Given the description of an element on the screen output the (x, y) to click on. 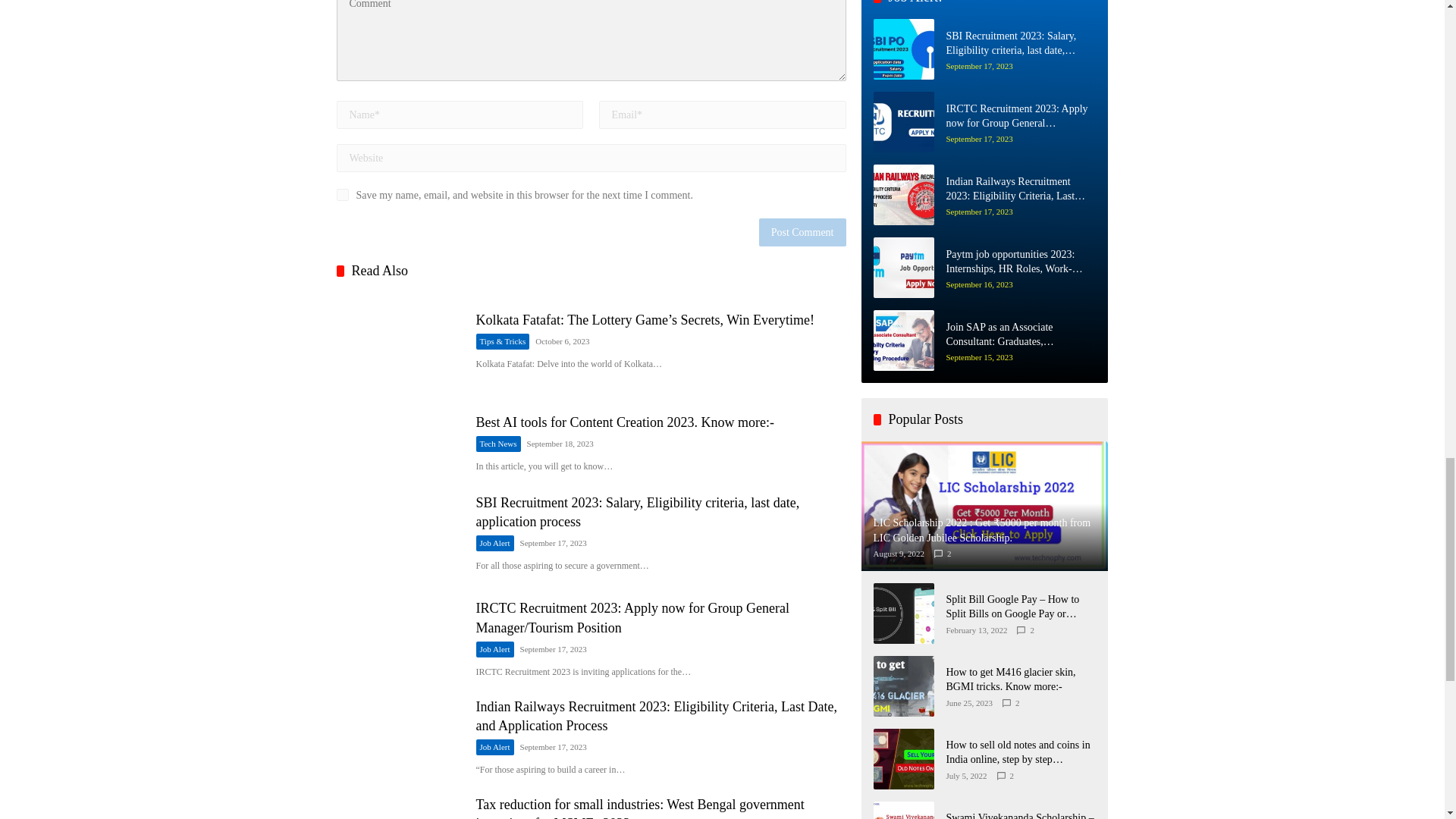
yes (342, 194)
Post Comment (801, 232)
